Given the description of an element on the screen output the (x, y) to click on. 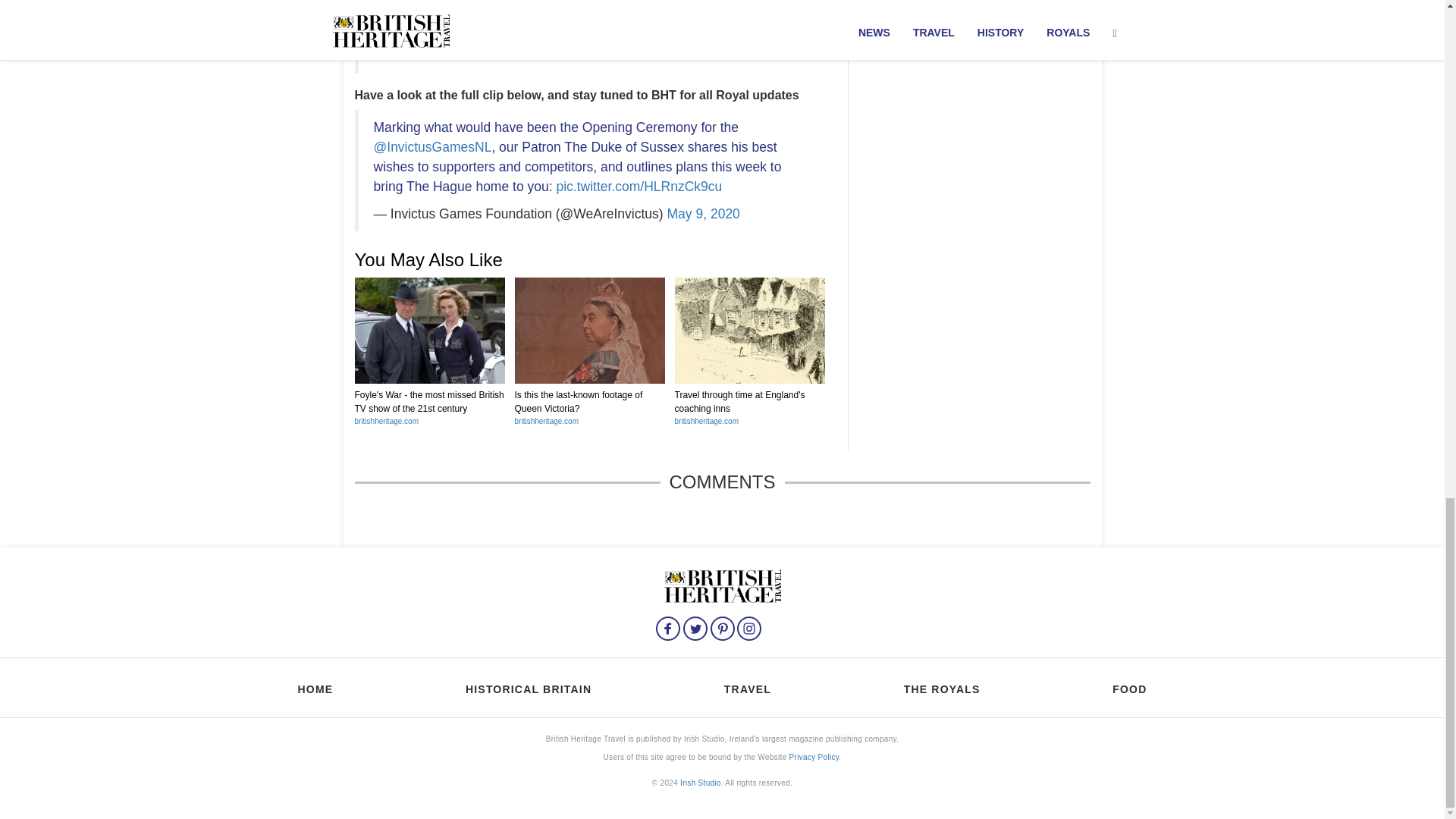
May 9, 2020 (702, 213)
footer-logo (721, 583)
